Given the description of an element on the screen output the (x, y) to click on. 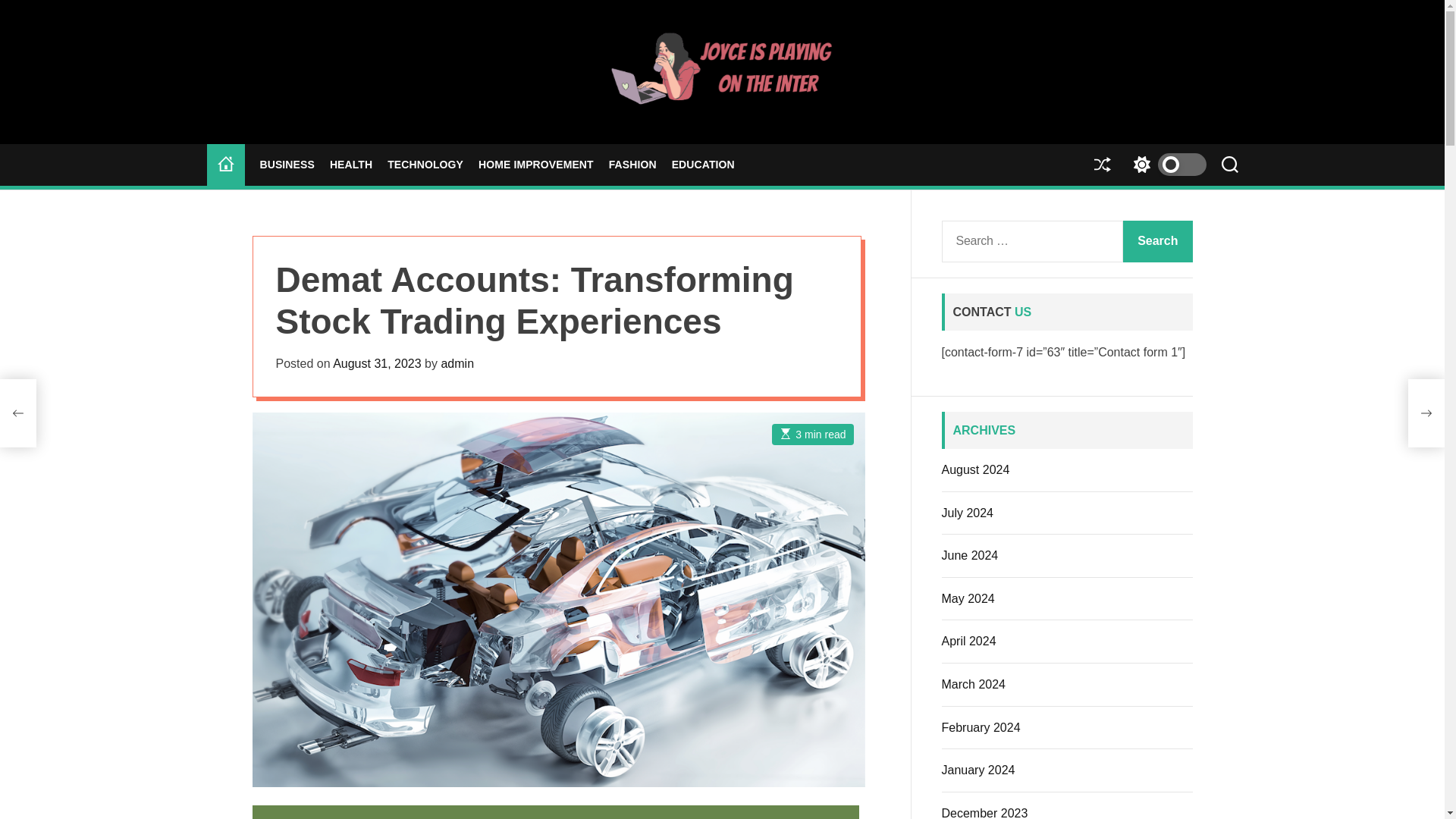
FASHION (632, 164)
HEALTH (351, 164)
August 31, 2023 (377, 363)
admin (457, 363)
HOME IMPROVEMENT (536, 164)
EDUCATION (703, 164)
Search (1157, 241)
TECHNOLOGY (425, 164)
Switch color mode (1165, 164)
Search (1157, 241)
